Given the description of an element on the screen output the (x, y) to click on. 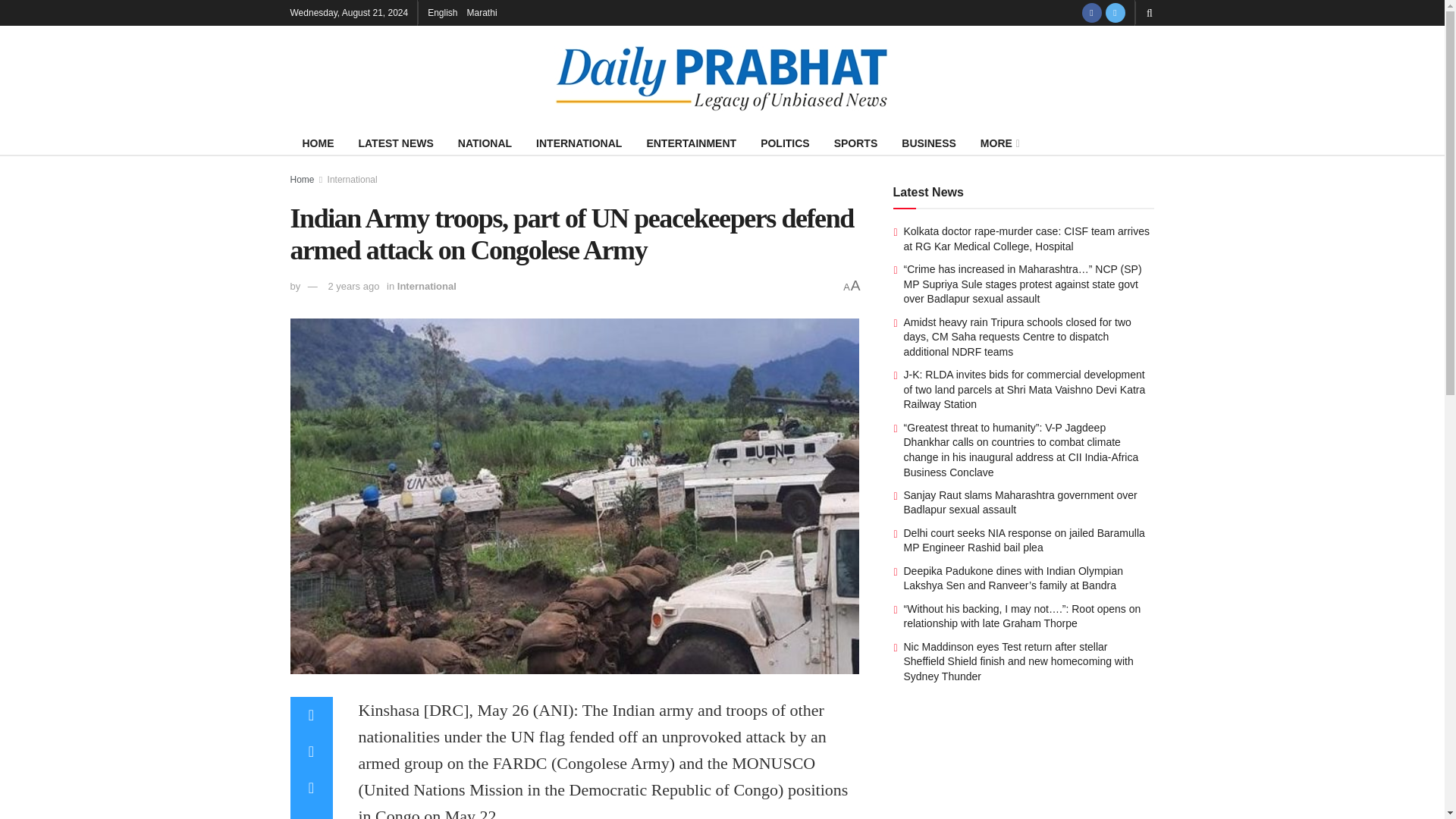
International (427, 285)
HOME (317, 142)
NATIONAL (484, 142)
Advertisement (1023, 770)
SPORTS (855, 142)
LATEST NEWS (395, 142)
POLITICS (785, 142)
INTERNATIONAL (578, 142)
ENTERTAINMENT (690, 142)
Marathi (482, 12)
